Given the description of an element on the screen output the (x, y) to click on. 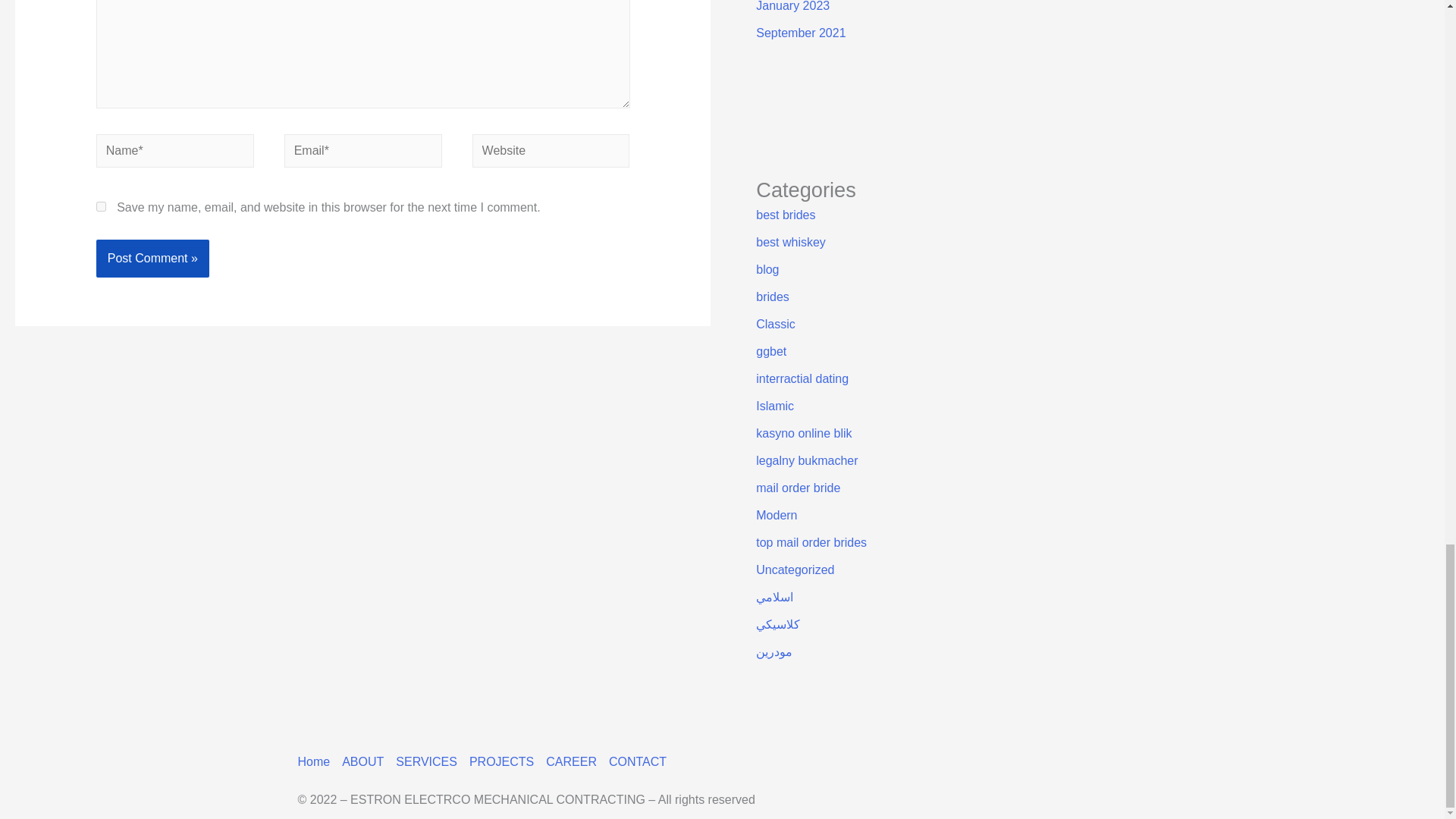
yes (101, 206)
